Given the description of an element on the screen output the (x, y) to click on. 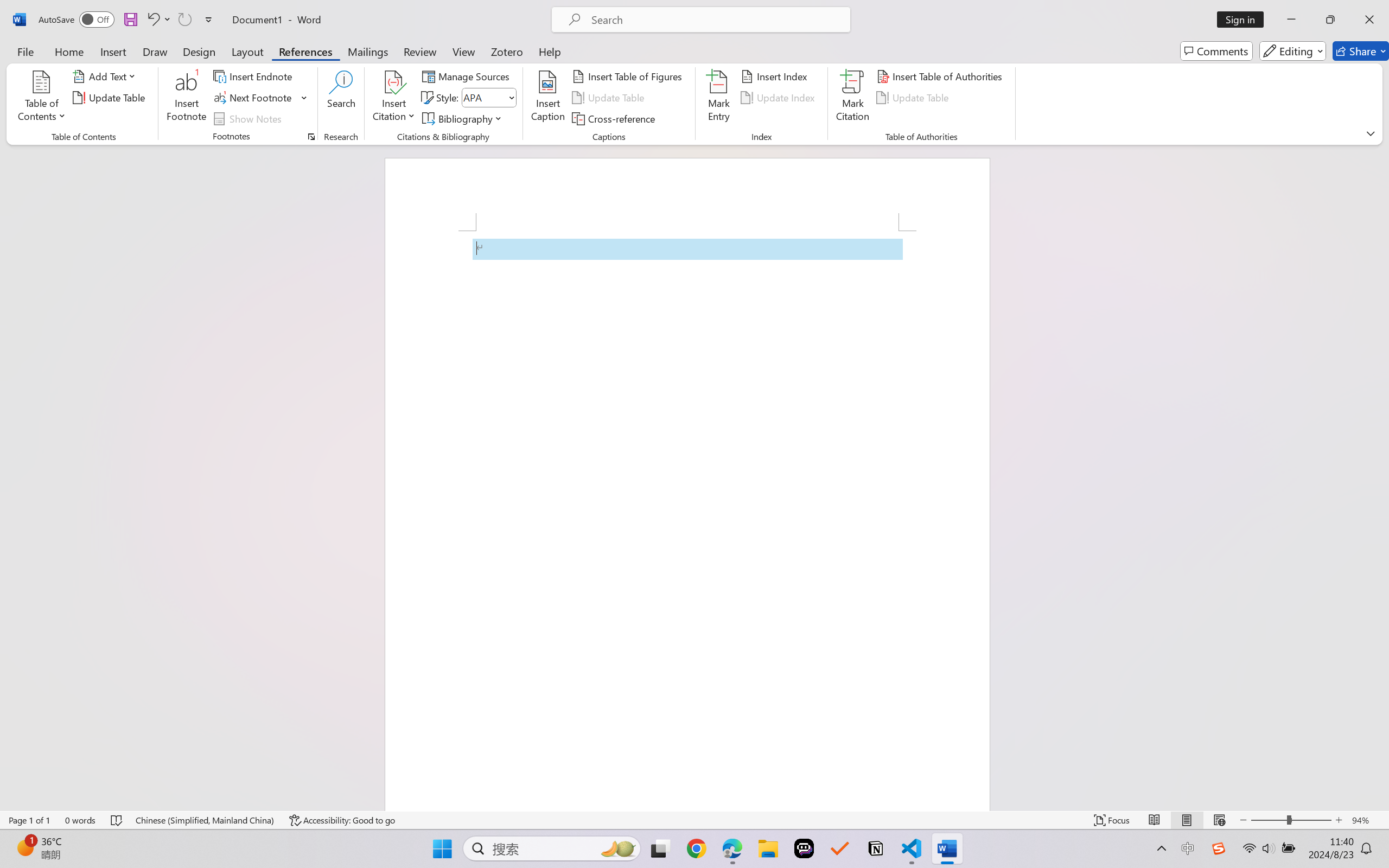
Style (483, 96)
Update Table (914, 97)
Update Index (778, 97)
Show Notes (248, 118)
Style (488, 97)
